Given the description of an element on the screen output the (x, y) to click on. 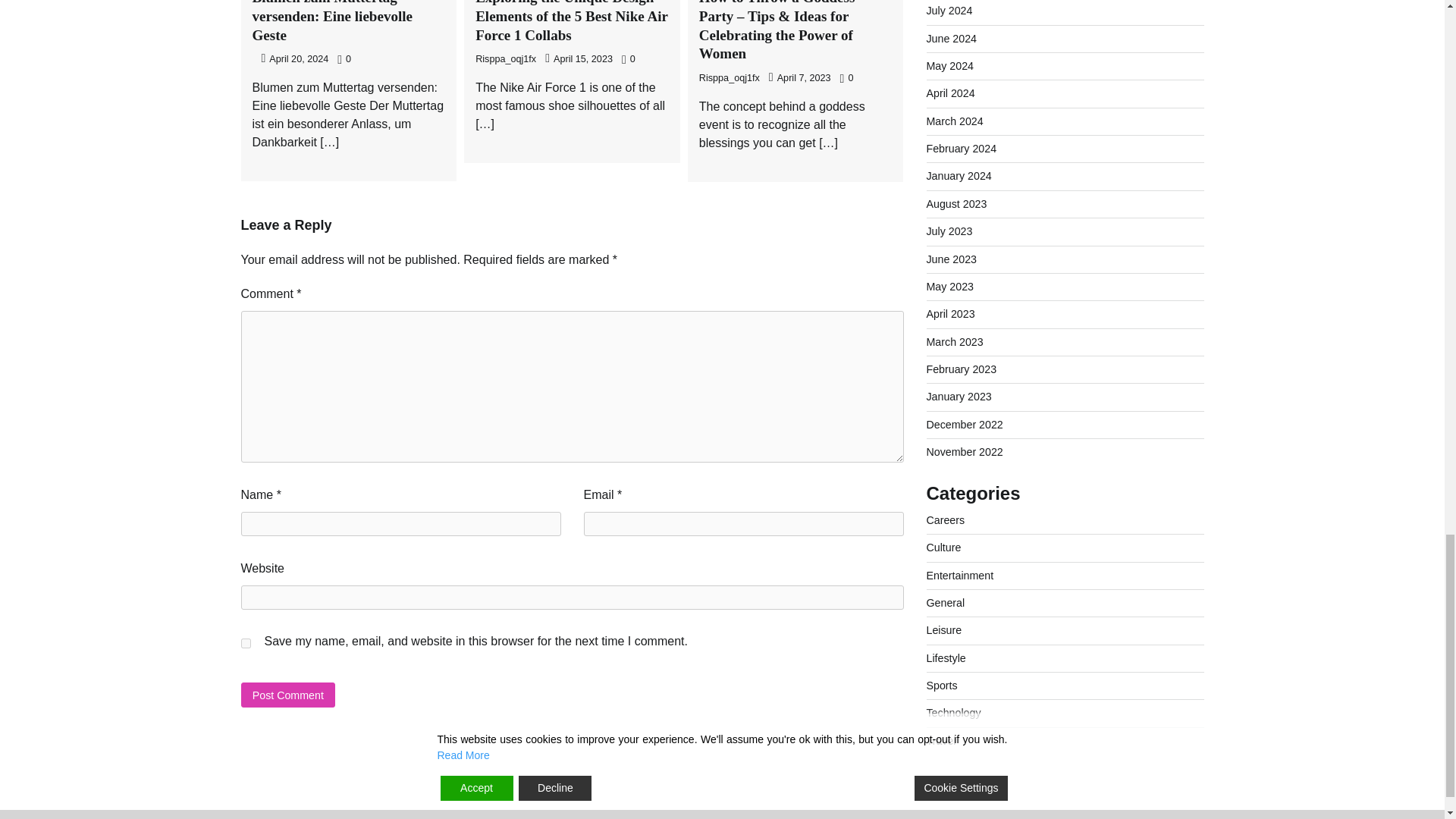
Post Comment (288, 694)
yes (245, 643)
Post Comment (288, 694)
Blumen zum Muttertag versenden: Eine liebevolle Geste (331, 21)
